Given the description of an element on the screen output the (x, y) to click on. 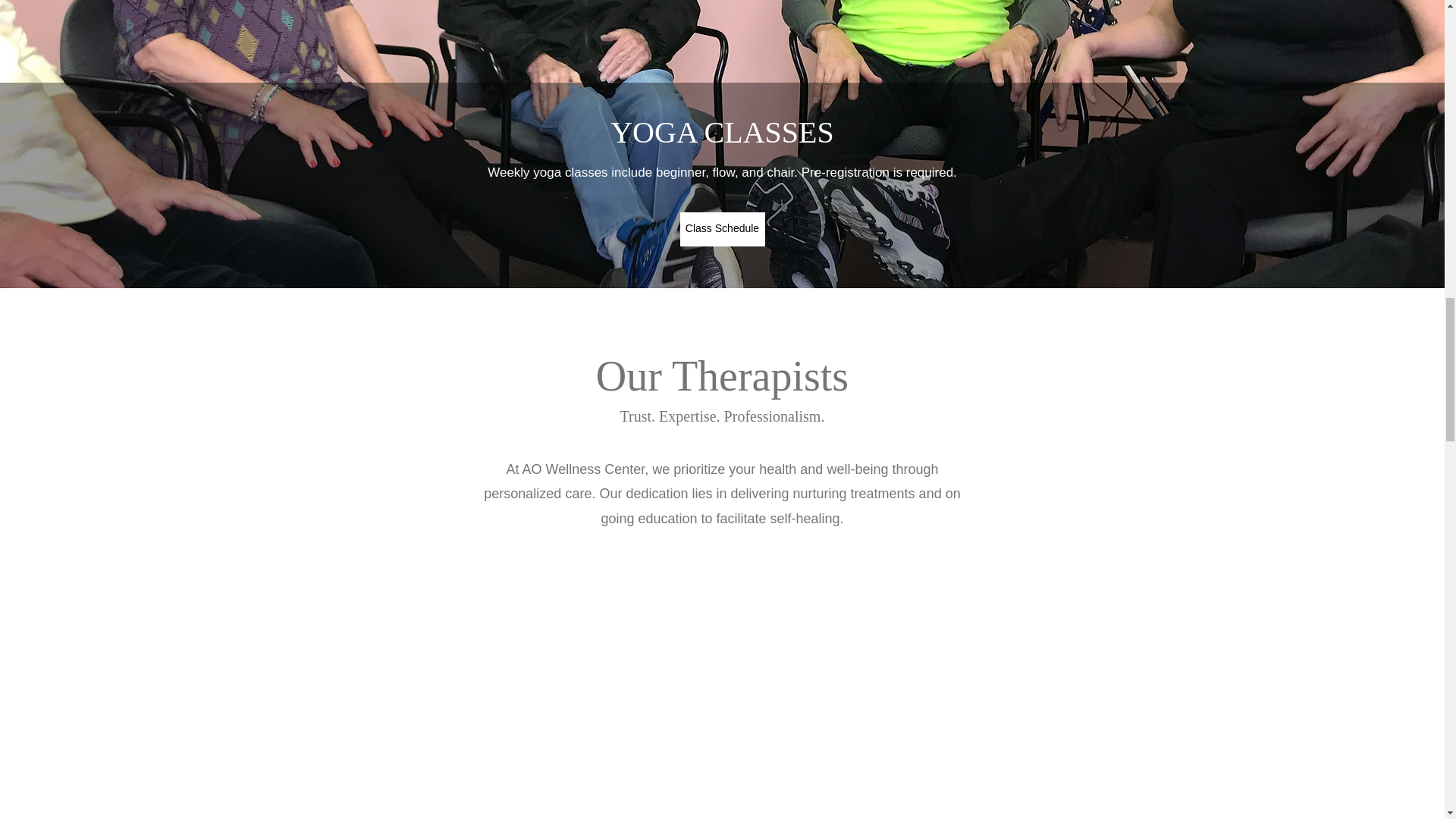
Class Schedule (721, 229)
